Given the description of an element on the screen output the (x, y) to click on. 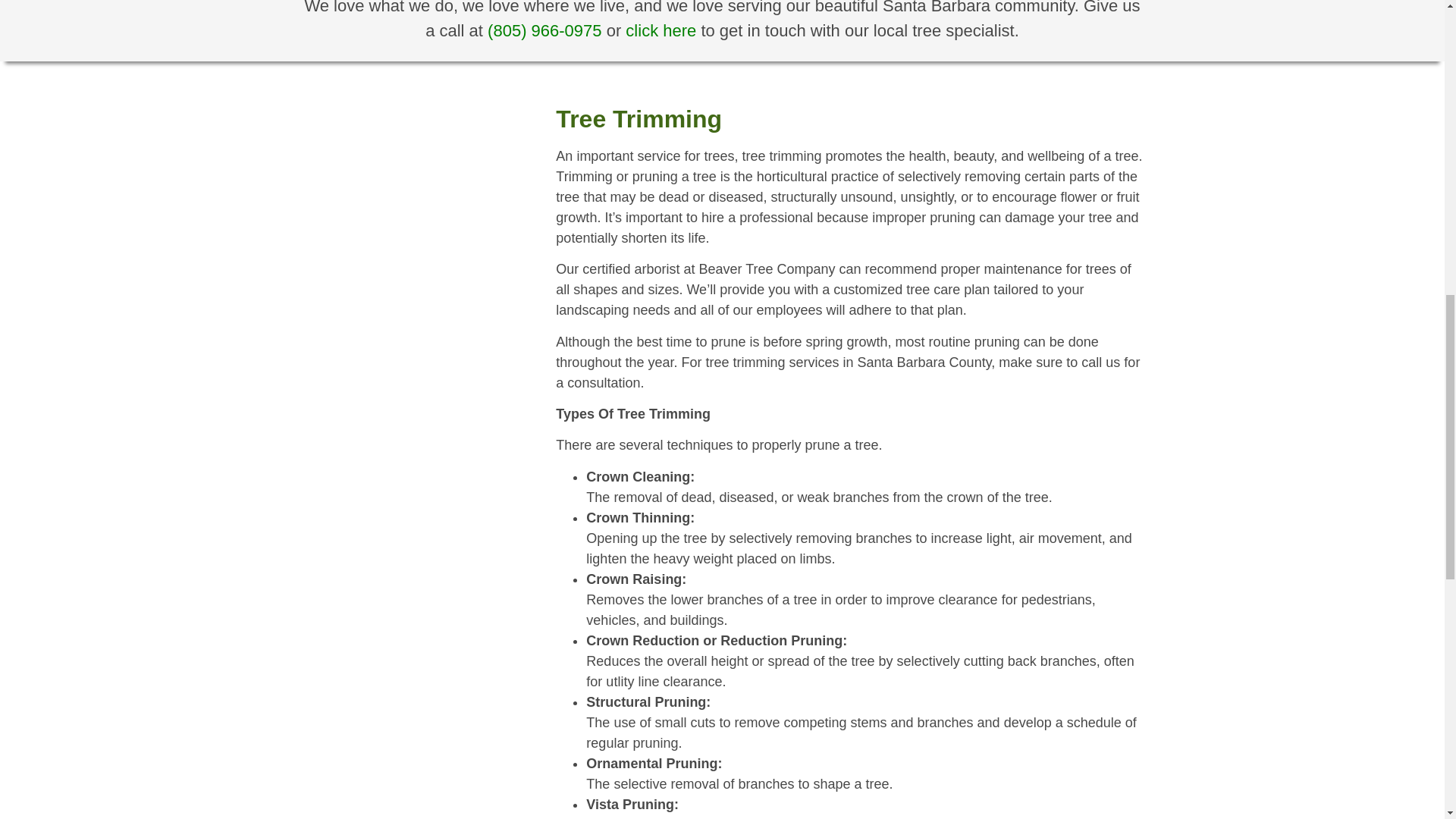
click here (660, 30)
